Given the description of an element on the screen output the (x, y) to click on. 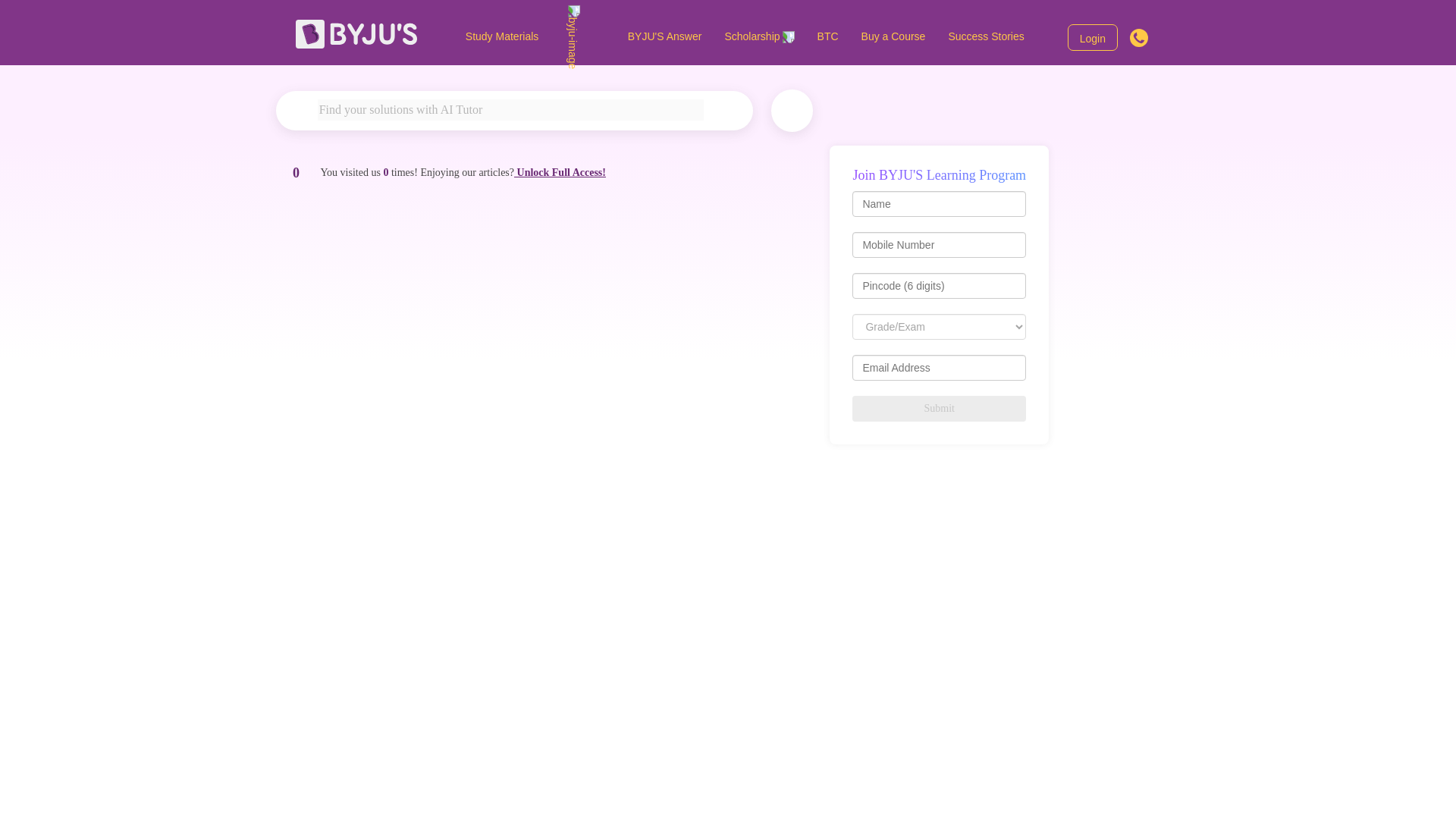
Study Materials (534, 35)
